Given the description of an element on the screen output the (x, y) to click on. 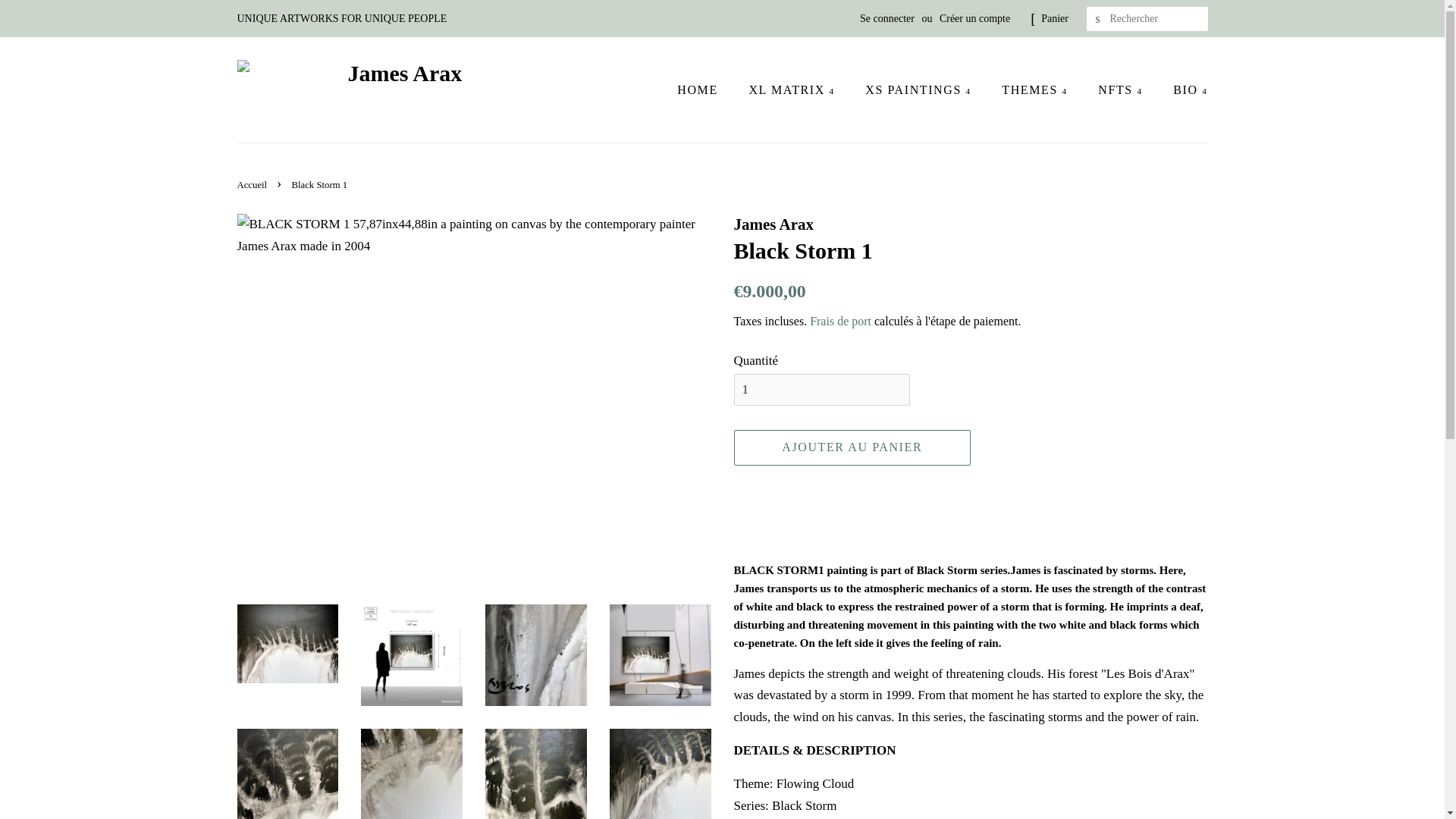
RECHERCHE (1097, 18)
Se connecter (887, 18)
1 (821, 389)
Panier (1054, 18)
